Given the description of an element on the screen output the (x, y) to click on. 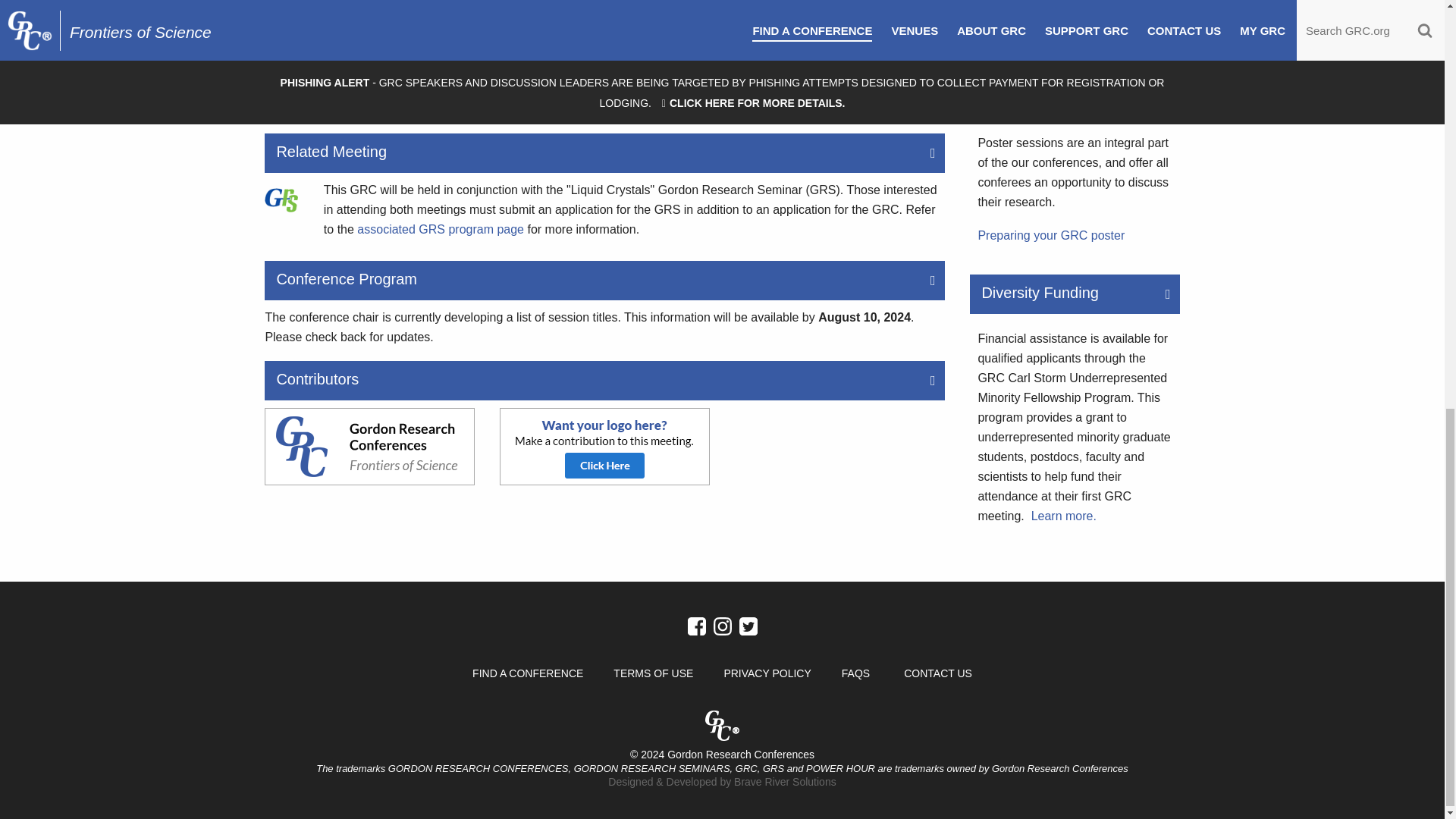
More Information (1050, 235)
Gordon Research Conferences (368, 446)
